Given the description of an element on the screen output the (x, y) to click on. 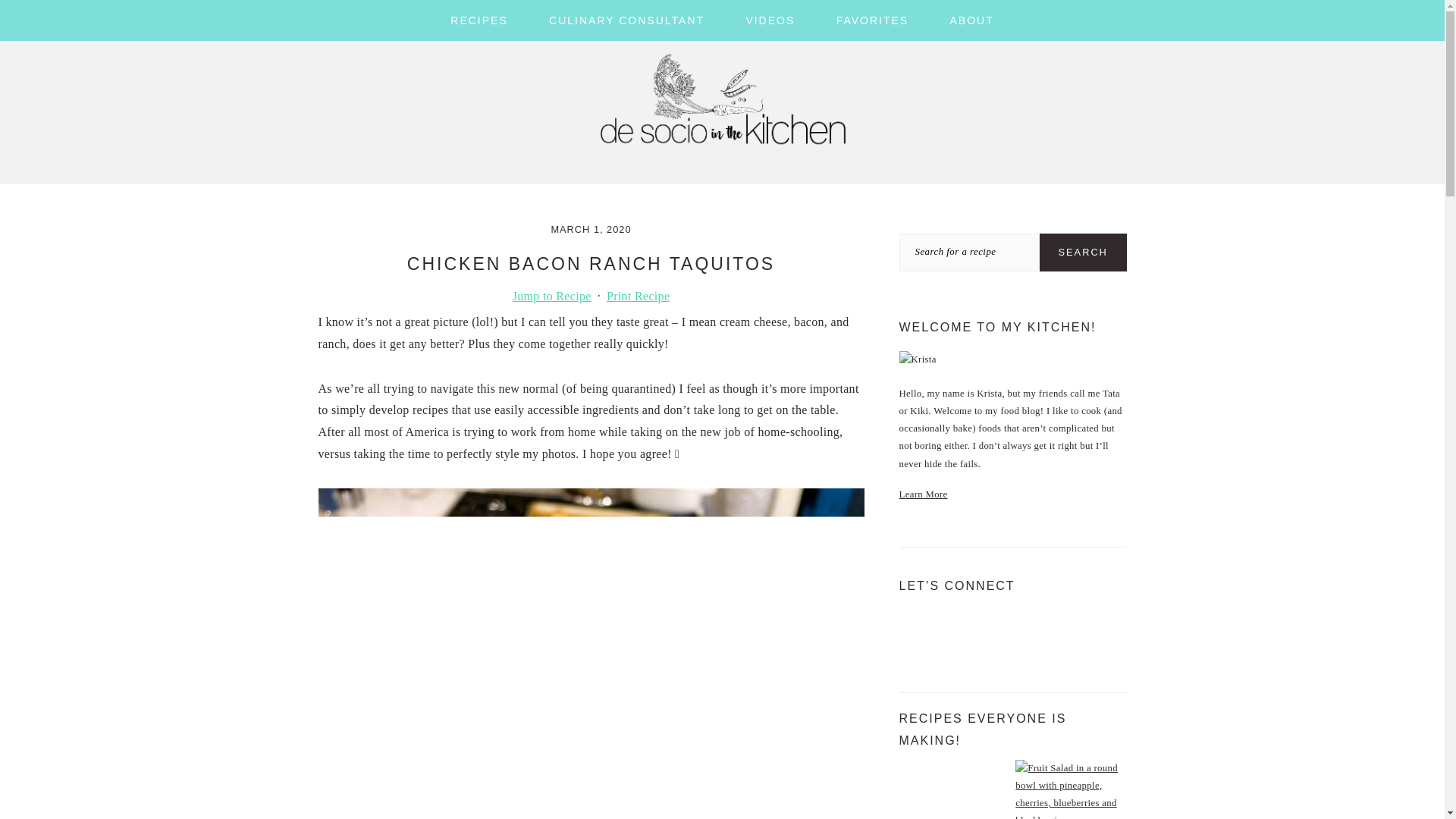
RECIPES (477, 20)
VIDEOS (769, 20)
FAVORITES (872, 20)
Print Recipe (637, 295)
A Modern Fruit Salad (1069, 789)
Search (1082, 252)
Jump to Recipe (551, 295)
Italian Panzanella Salad (954, 789)
CULINARY CONSULTANT (626, 20)
